Given the description of an element on the screen output the (x, y) to click on. 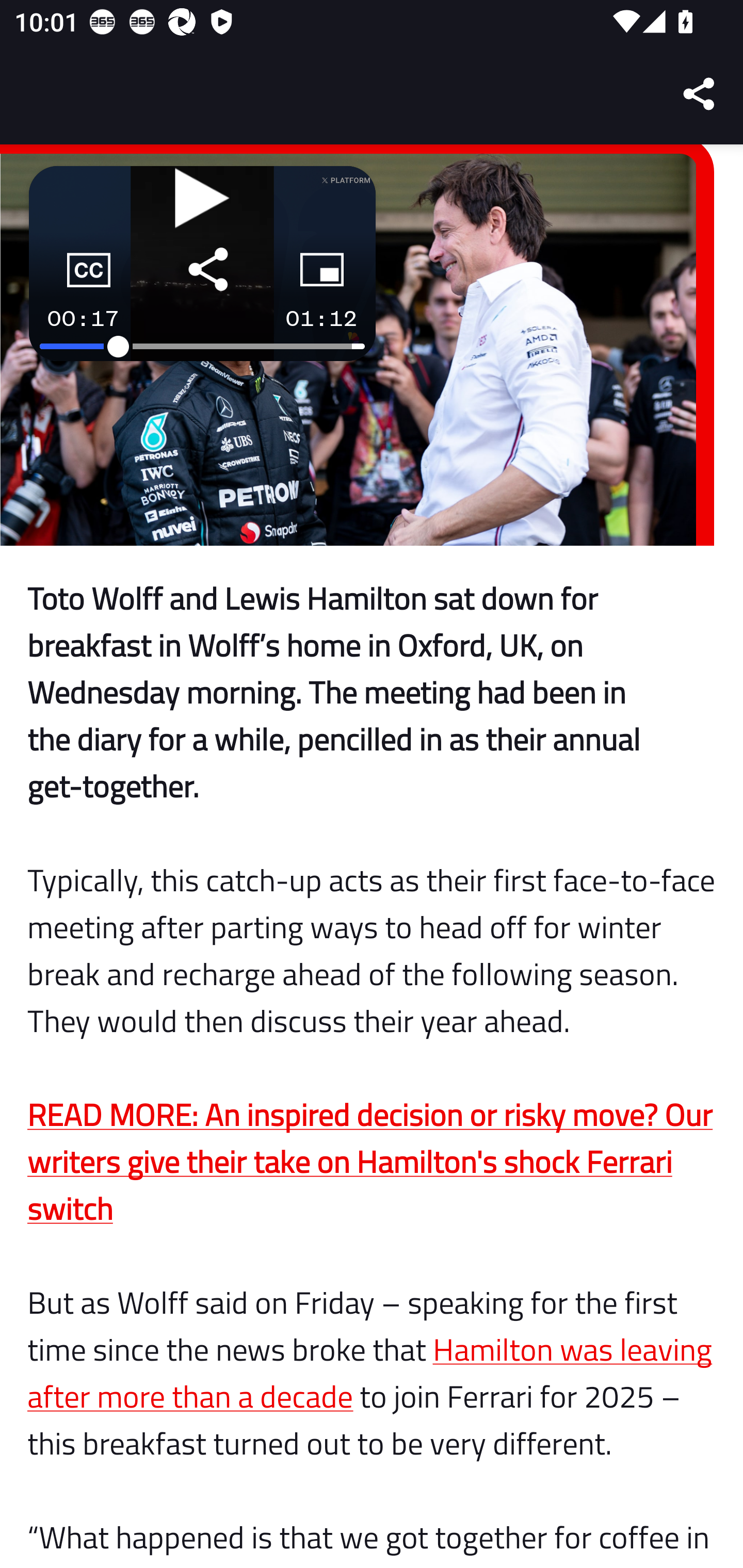
Share (699, 93)
